Given the description of an element on the screen output the (x, y) to click on. 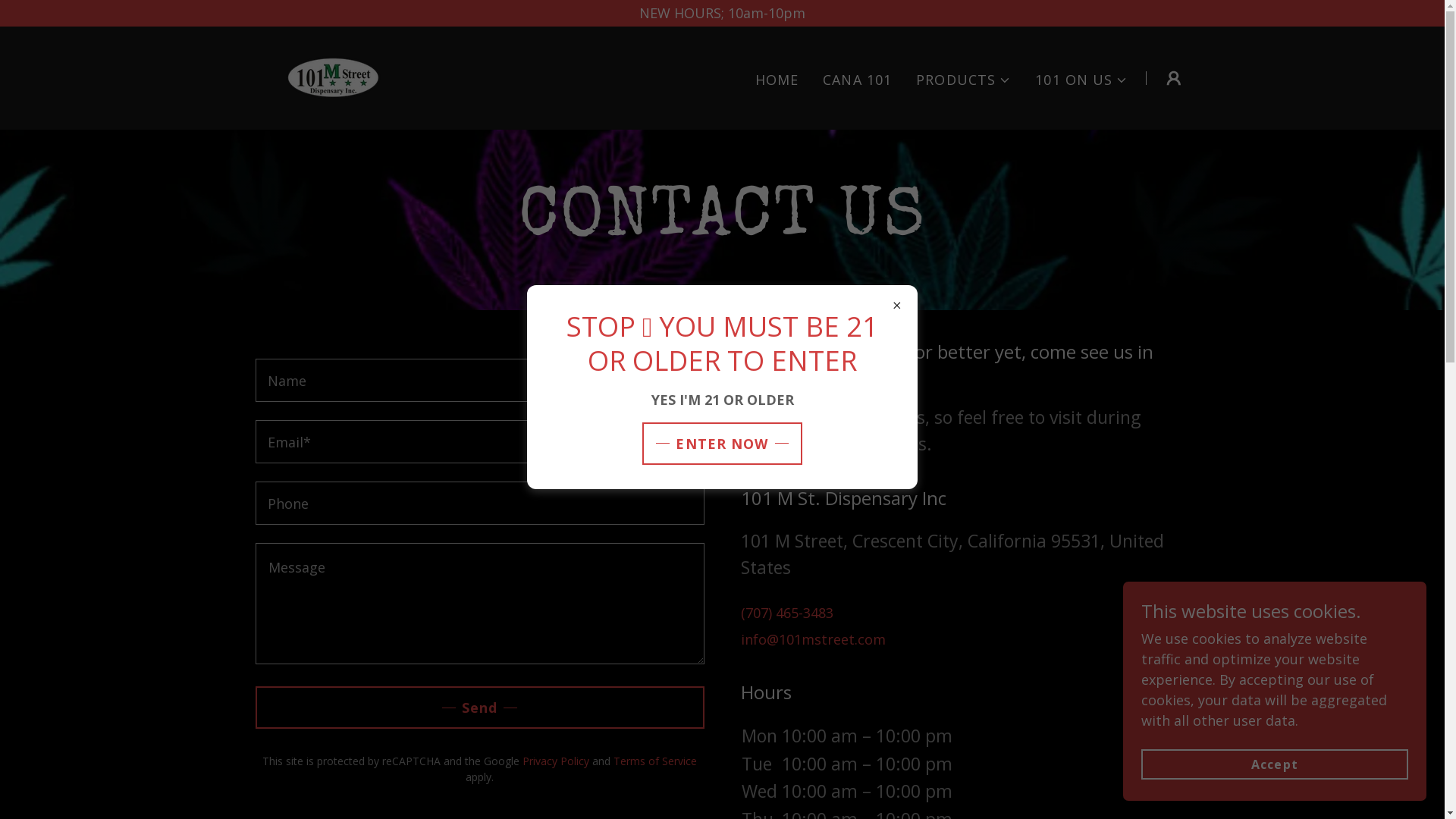
Send Element type: text (478, 707)
ENTER NOW Element type: text (721, 442)
HOME Element type: text (776, 79)
info@101mstreet.com Element type: text (812, 639)
Privacy Policy Element type: text (555, 760)
101 ON US Element type: text (1081, 79)
(707) 465-3483 Element type: text (786, 612)
PRODUCTS Element type: text (963, 79)
Terms of Service Element type: text (654, 760)
101  M St. Dispensary
              Inc. Element type: hover (327, 76)
CANA 101 Element type: text (857, 79)
Accept Element type: text (1274, 764)
